Given the description of an element on the screen output the (x, y) to click on. 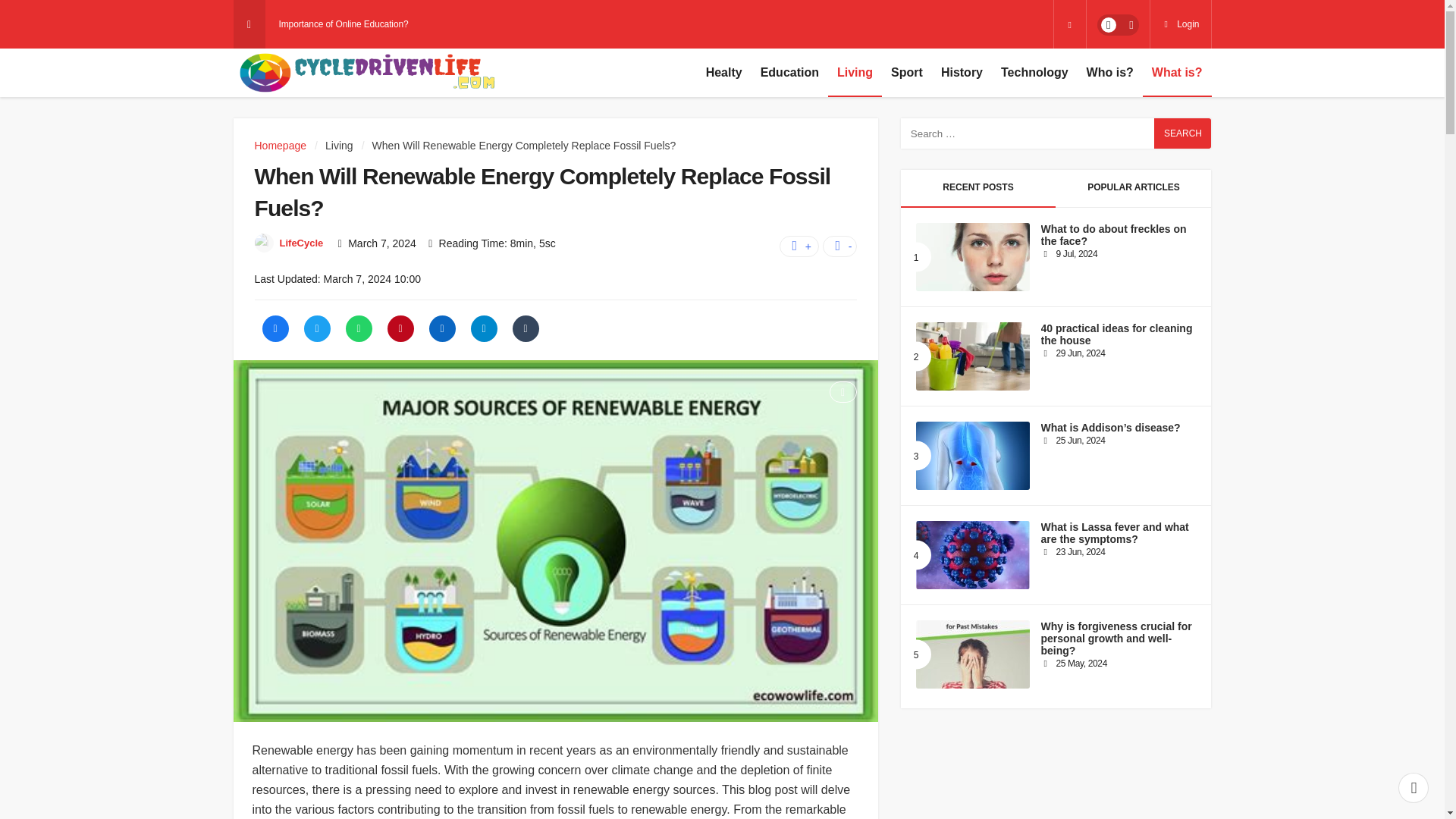
When Will Renewable Energy Completely Replace Fossil Fuels? (524, 145)
Living (338, 145)
Search (1182, 132)
What to do about freckles on the face? (972, 256)
Technology (1034, 72)
Healty (724, 72)
Importance of Online Education? (344, 23)
Education (789, 72)
Who is? (1109, 72)
Living (855, 72)
History (961, 72)
Login (1180, 24)
LifeCycle (301, 242)
Homepage (280, 145)
What is? (1176, 72)
